Given the description of an element on the screen output the (x, y) to click on. 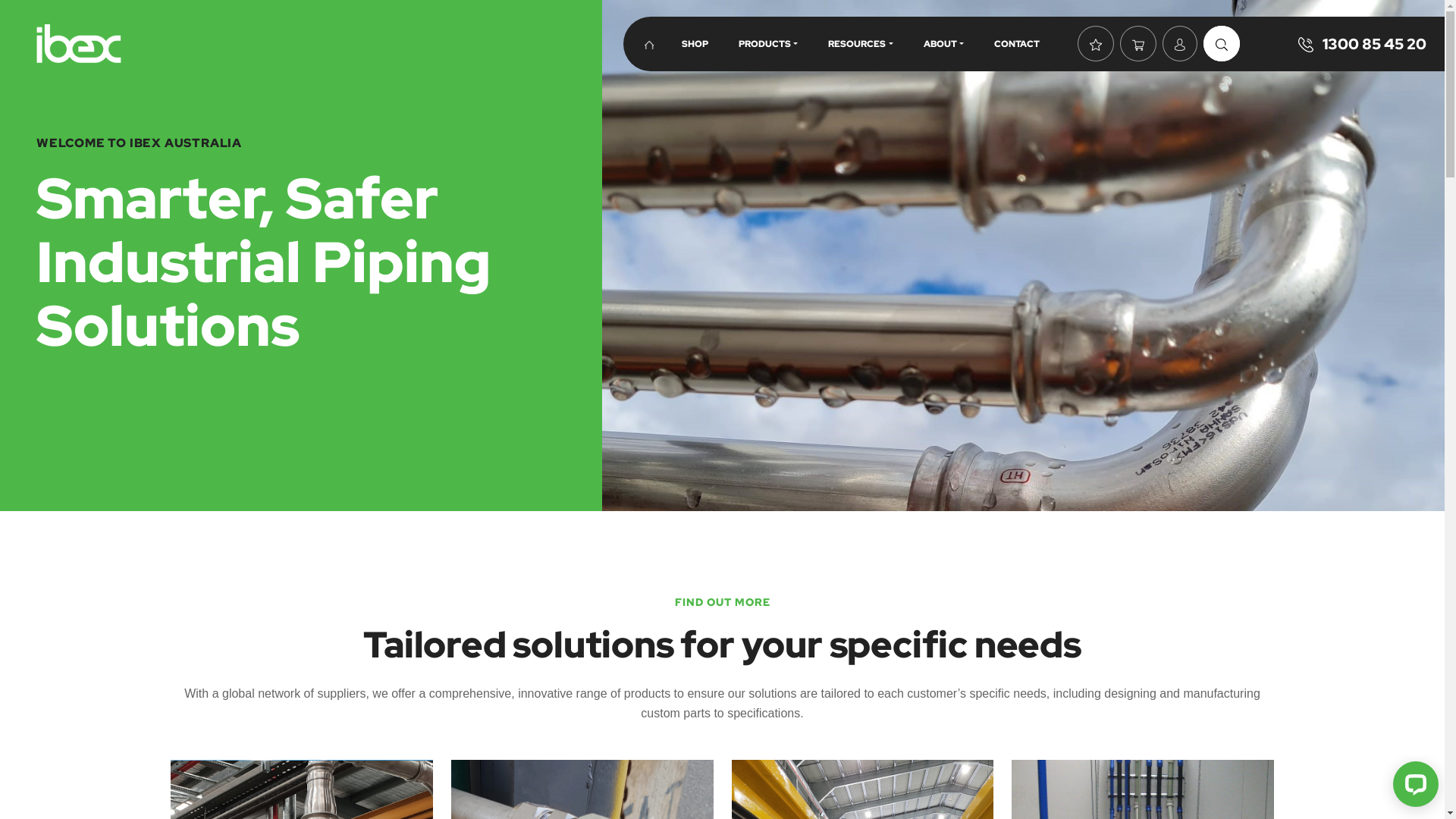
CONTACT Element type: text (1016, 43)
Ibex_WHITE Element type: hover (78, 44)
RESOURCES Element type: text (860, 43)
PRODUCTS Element type: text (767, 43)
ABOUT Element type: text (943, 43)
1300 85 45 20 Element type: text (1362, 43)
SHOP Element type: text (694, 43)
Marker.io notification overlay Element type: hover (1140, 303)
View your shopping cart Element type: hover (1138, 43)
